Given the description of an element on the screen output the (x, y) to click on. 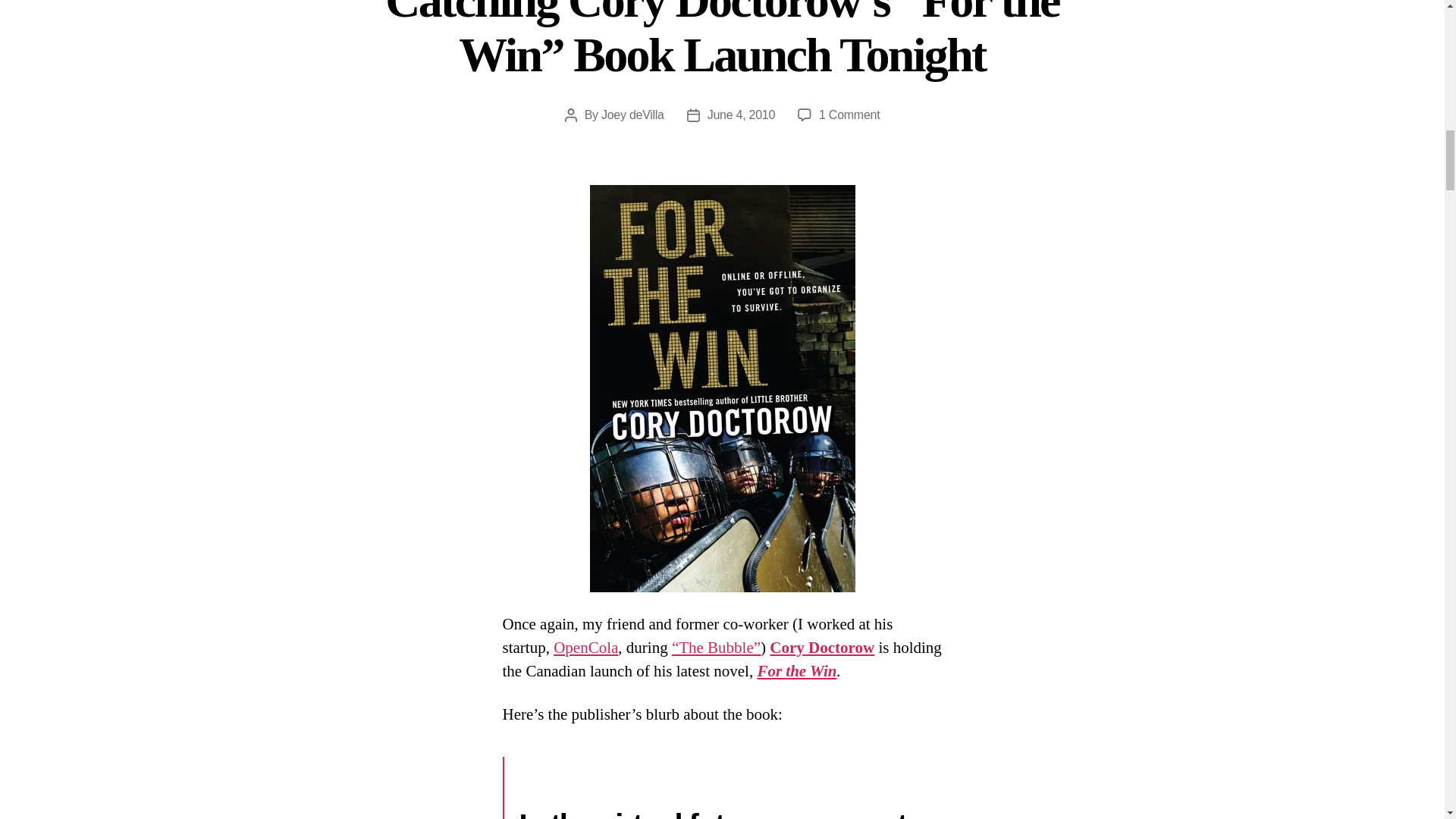
For the Win (796, 670)
OpenCola (585, 647)
Cory Doctorow (822, 647)
Joey deVilla (632, 114)
June 4, 2010 (740, 114)
